Given the description of an element on the screen output the (x, y) to click on. 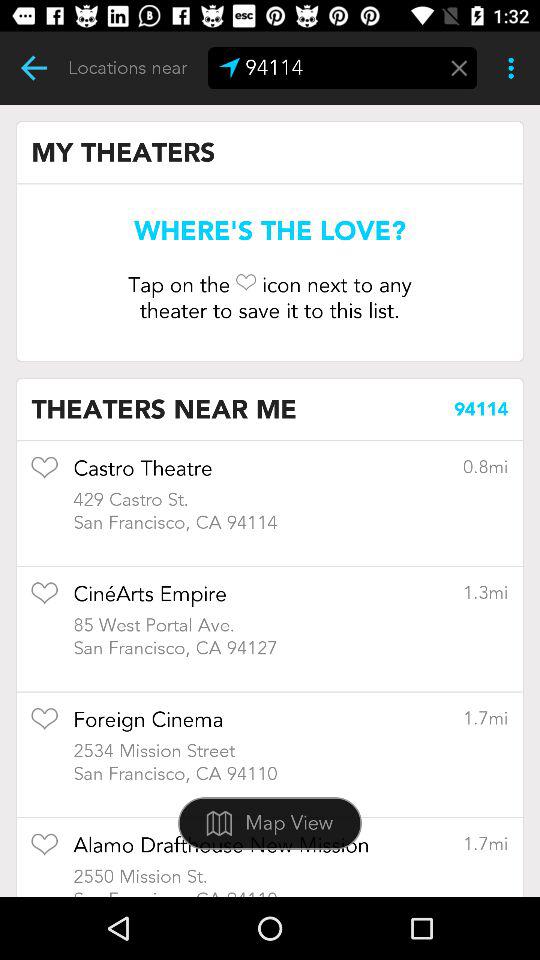
favorite selection (44, 850)
